Given the description of an element on the screen output the (x, y) to click on. 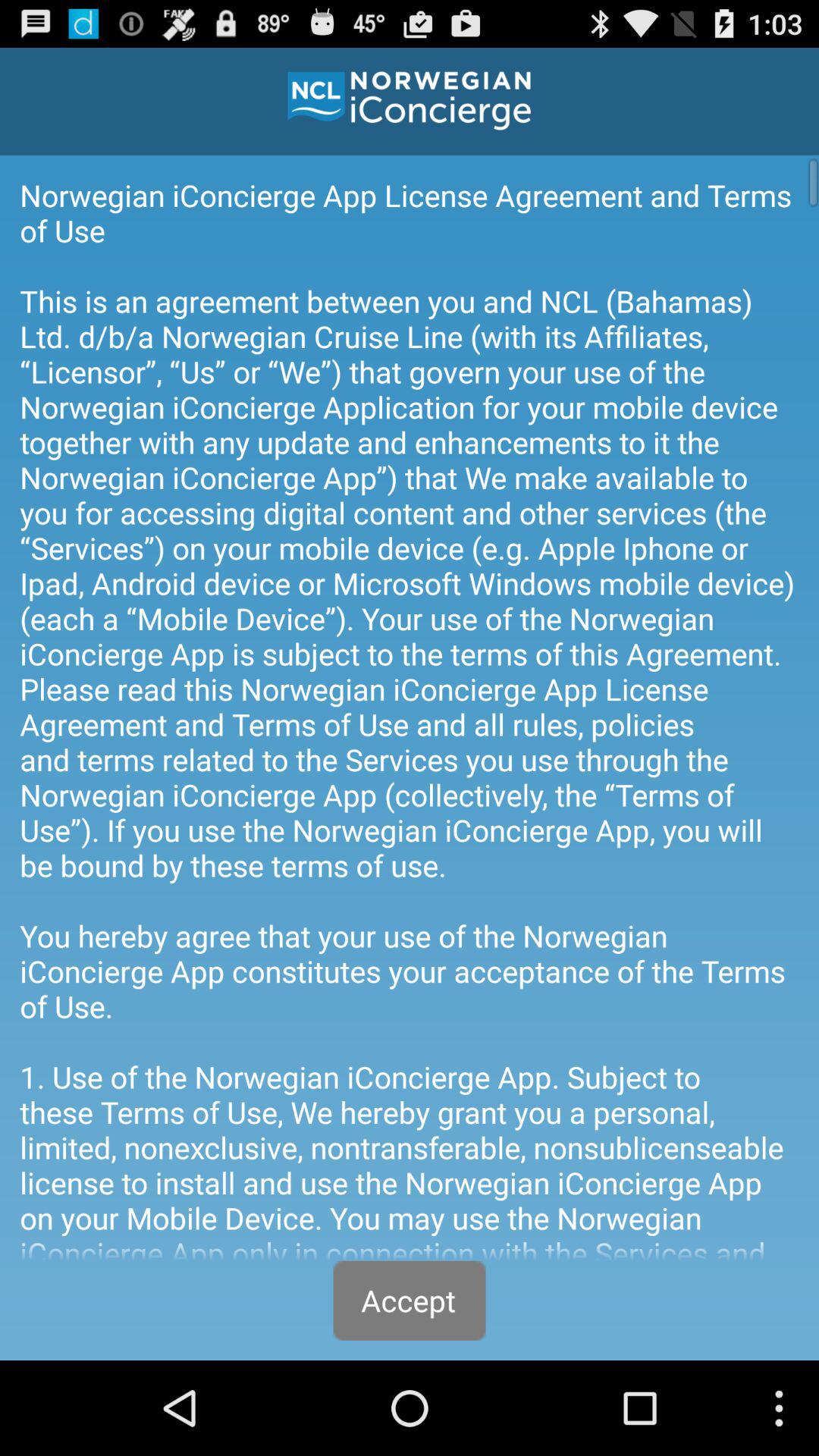
press accept (409, 1300)
